Given the description of an element on the screen output the (x, y) to click on. 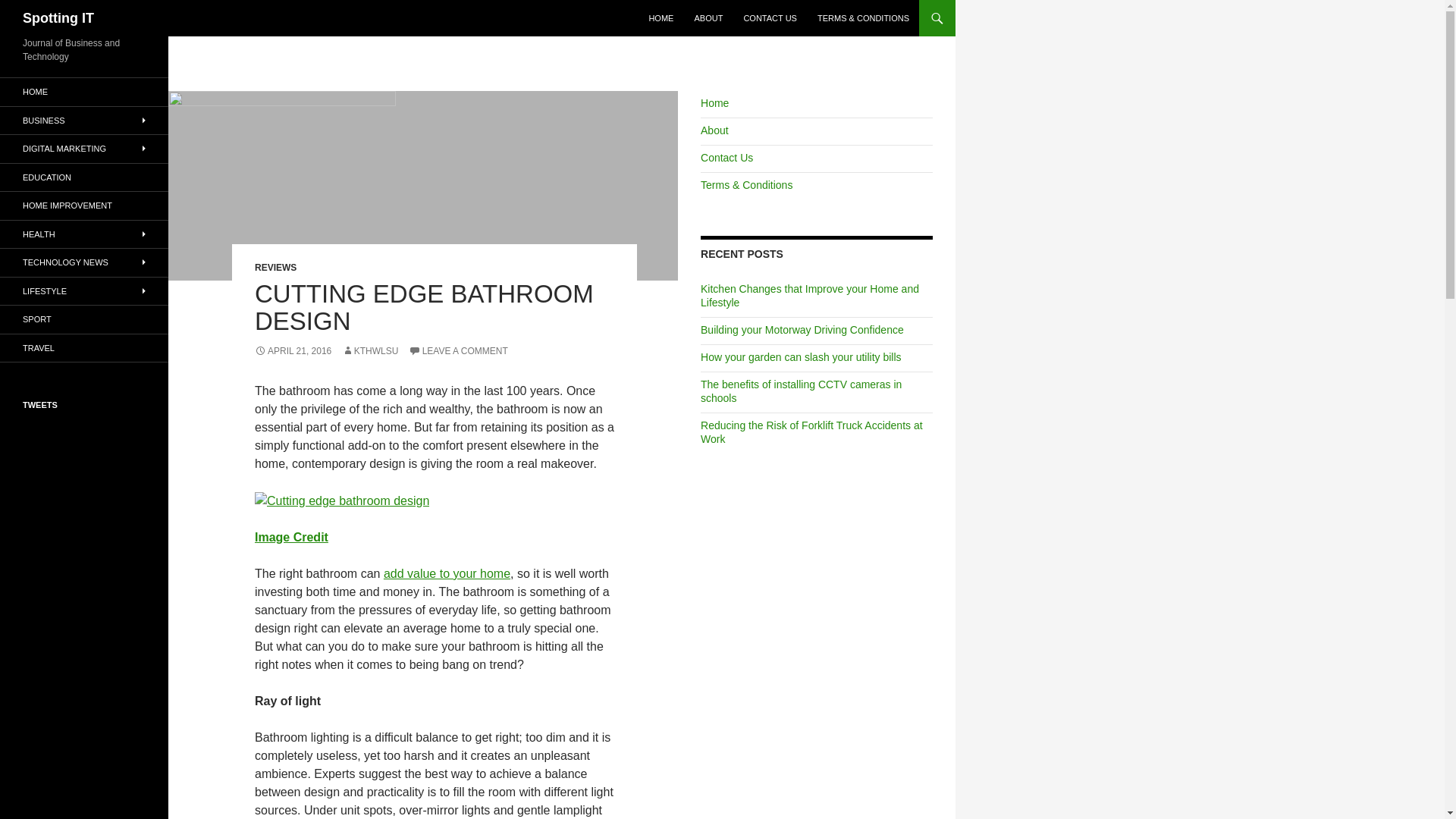
HOME (660, 18)
DIGITAL MARKETING (84, 148)
add value to your home (447, 573)
LEAVE A COMMENT (458, 350)
Building your Motorway Driving Confidence (802, 329)
HOME (84, 91)
Kitchen Changes that Improve your Home and Lifestyle (809, 295)
About (714, 130)
Contact Us (726, 157)
REVIEWS (275, 267)
APRIL 21, 2016 (292, 350)
Image Credit (291, 536)
KTHWLSU (370, 350)
ABOUT (708, 18)
The benefits of installing CCTV cameras in schools (800, 391)
